Given the description of an element on the screen output the (x, y) to click on. 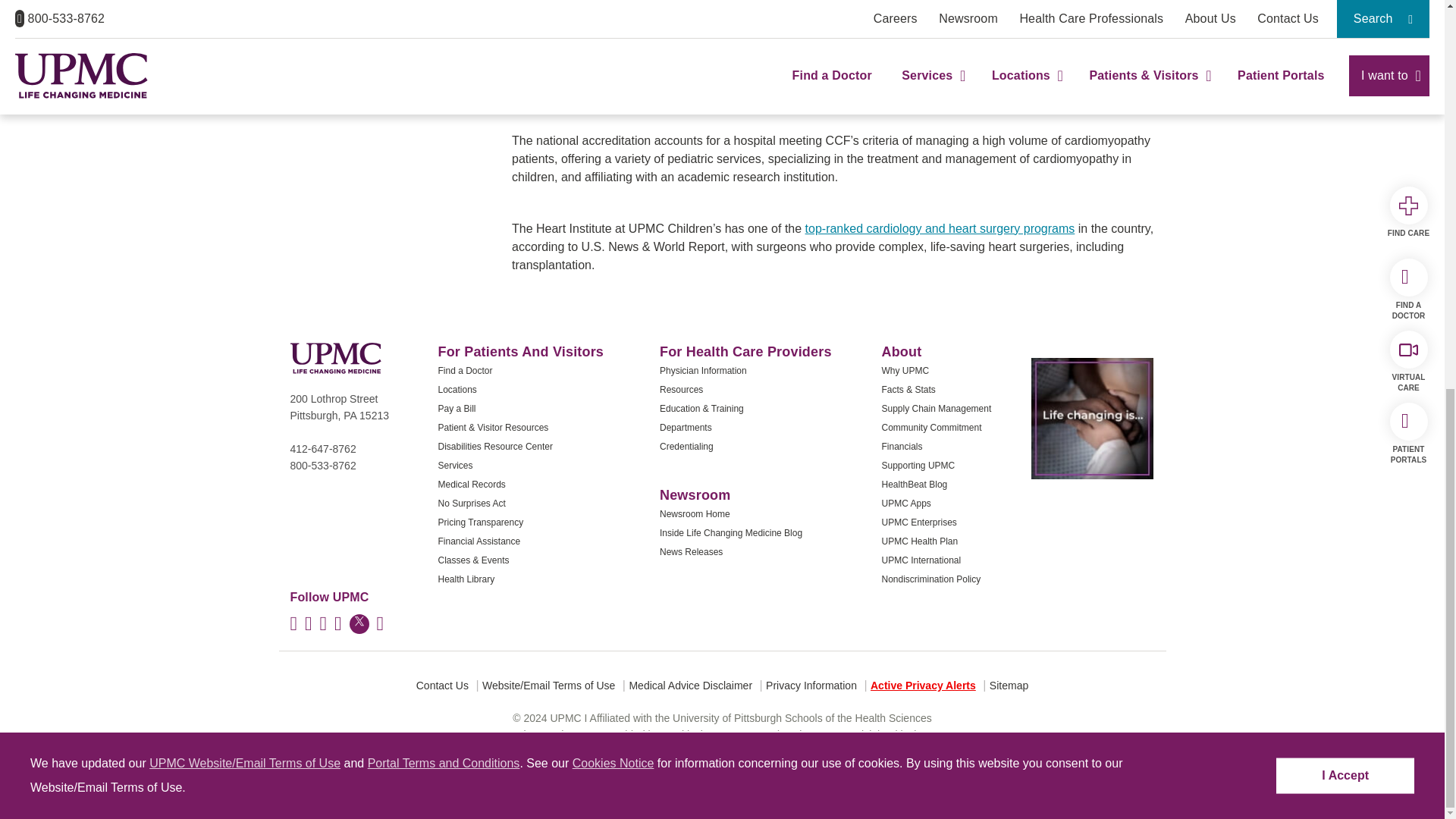
Portal Terms and Conditions (443, 24)
I Accept (1344, 37)
Cookies Notice (612, 24)
